Given the description of an element on the screen output the (x, y) to click on. 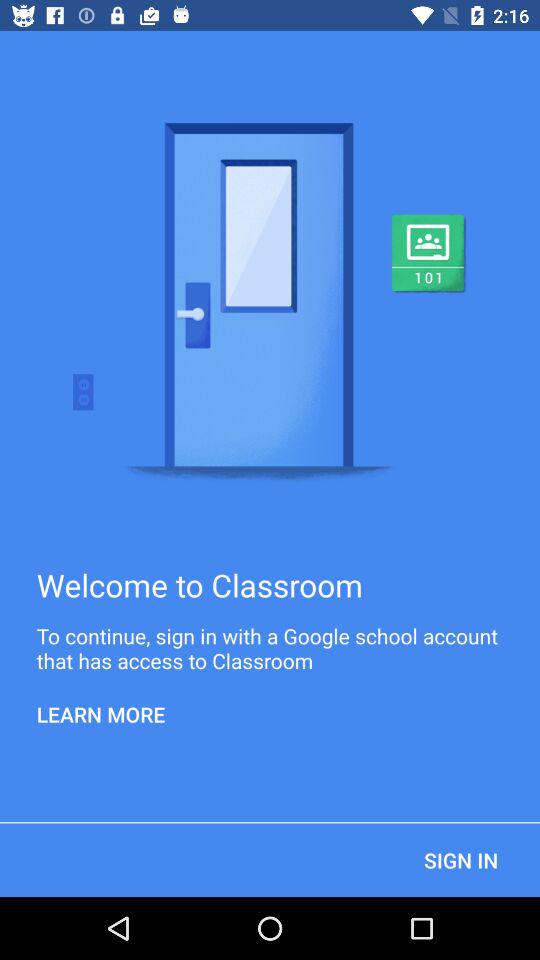
tap learn more item (101, 713)
